Given the description of an element on the screen output the (x, y) to click on. 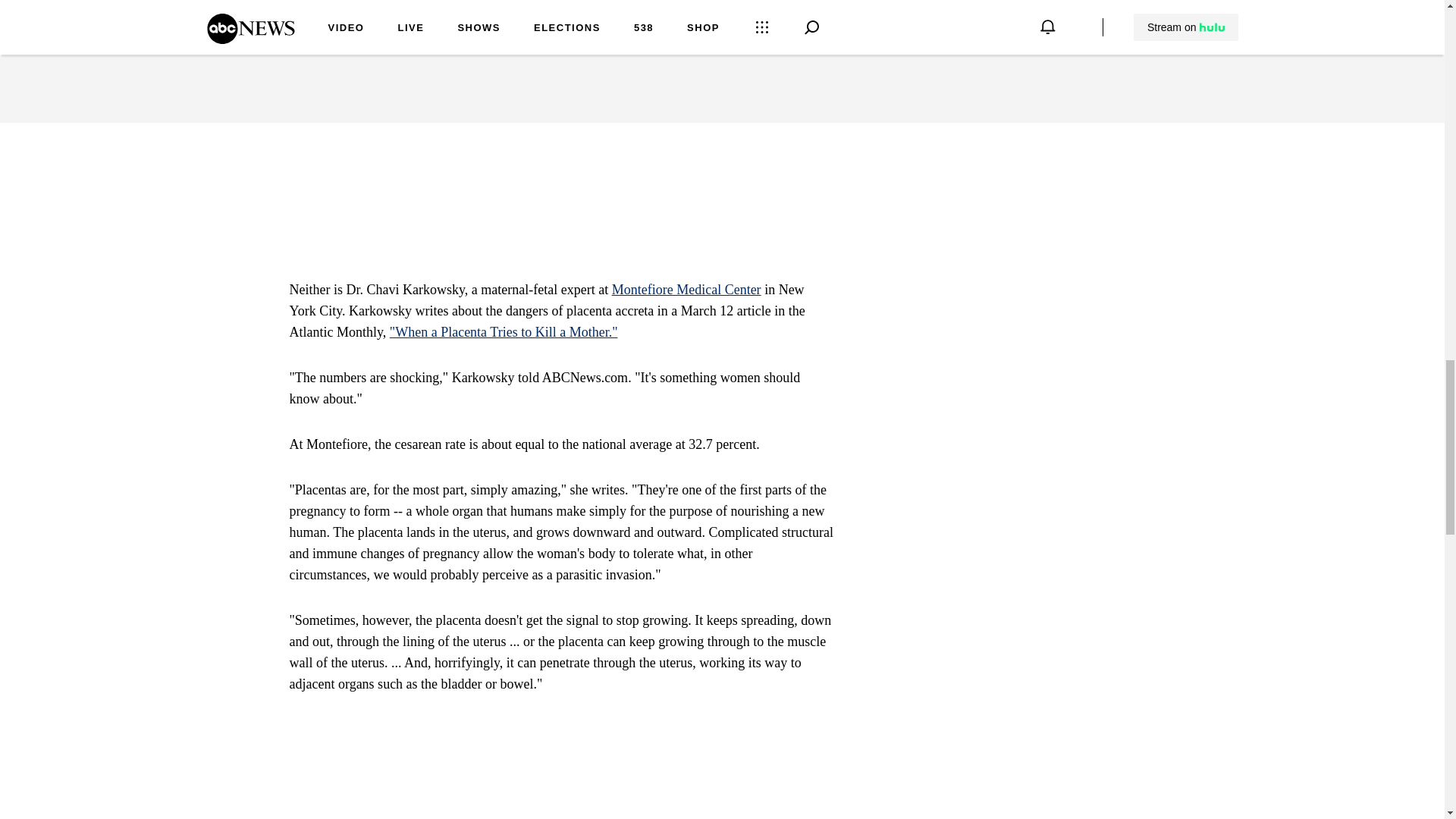
"When a Placenta Tries to Kill a Mother." (503, 331)
Montefiore Medical Center (686, 289)
